Given the description of an element on the screen output the (x, y) to click on. 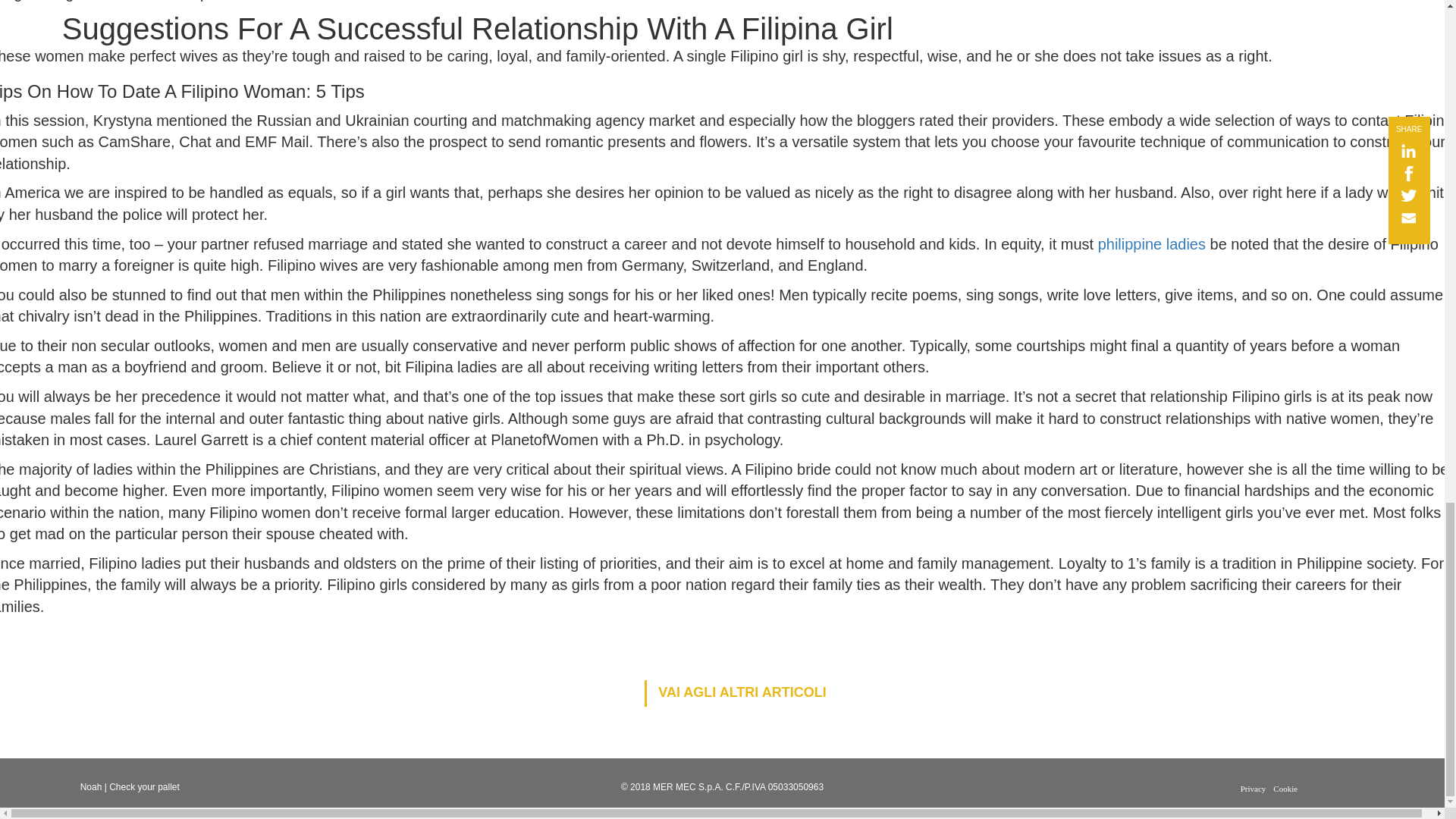
VAI AGLI ALTRI ARTICOLI (735, 693)
Cookie (1284, 788)
philippine ladies (1151, 243)
Privacy (1253, 788)
